Given the description of an element on the screen output the (x, y) to click on. 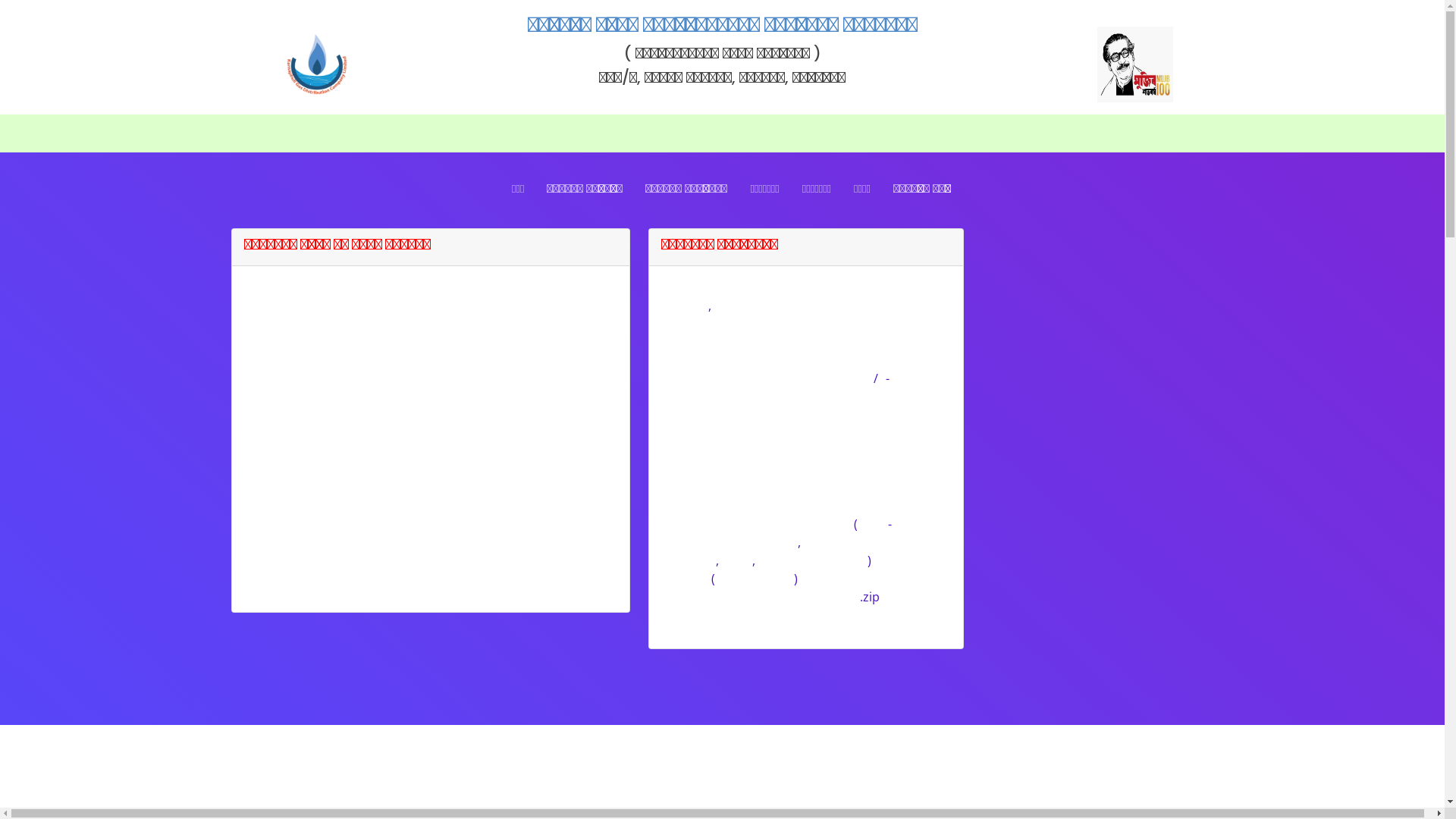
YouTube video player Element type: hover (1094, 379)
